Given the description of an element on the screen output the (x, y) to click on. 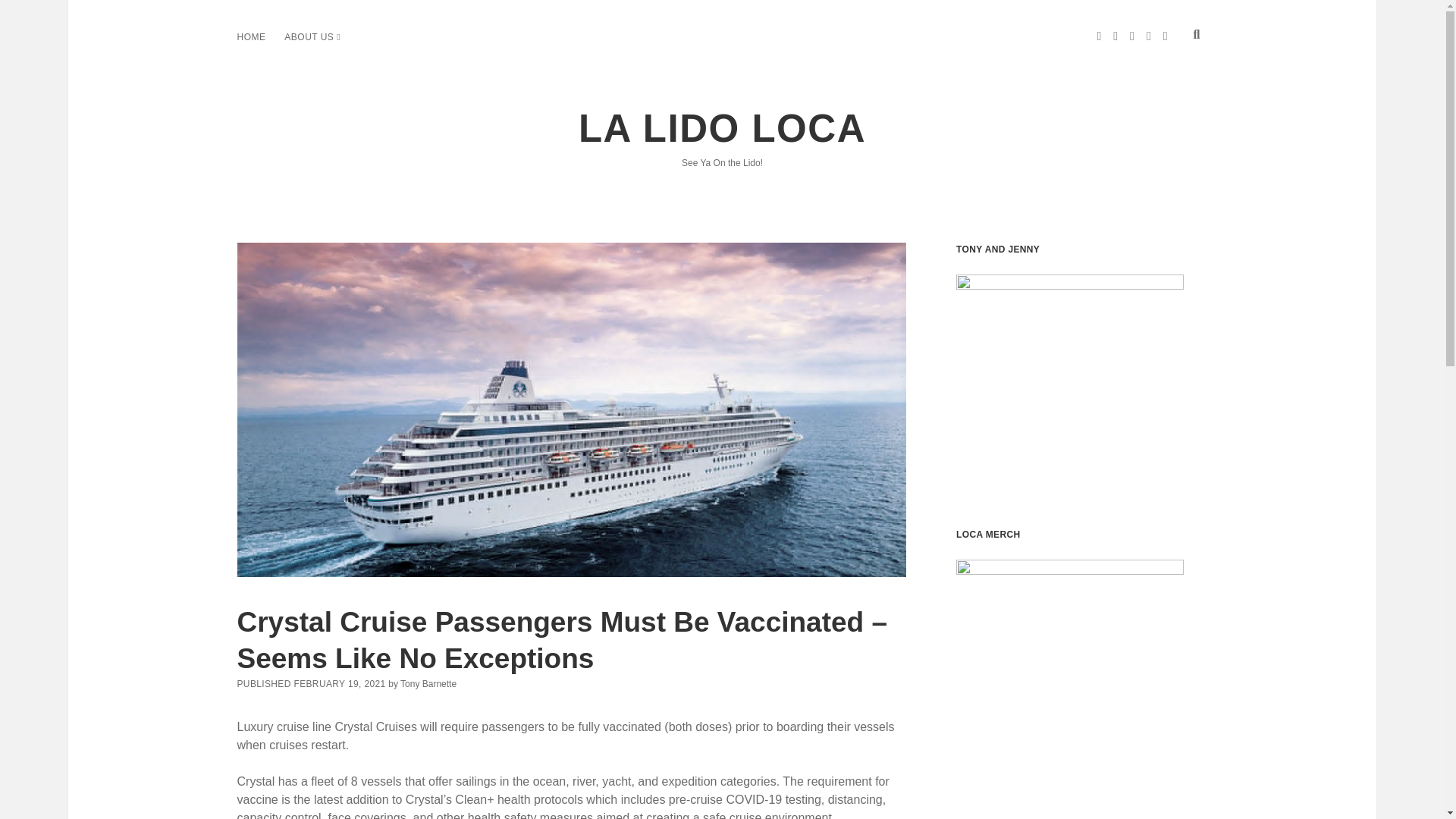
HOME (249, 37)
ABOUT US (308, 37)
LA LIDO LOCA (722, 128)
